Given the description of an element on the screen output the (x, y) to click on. 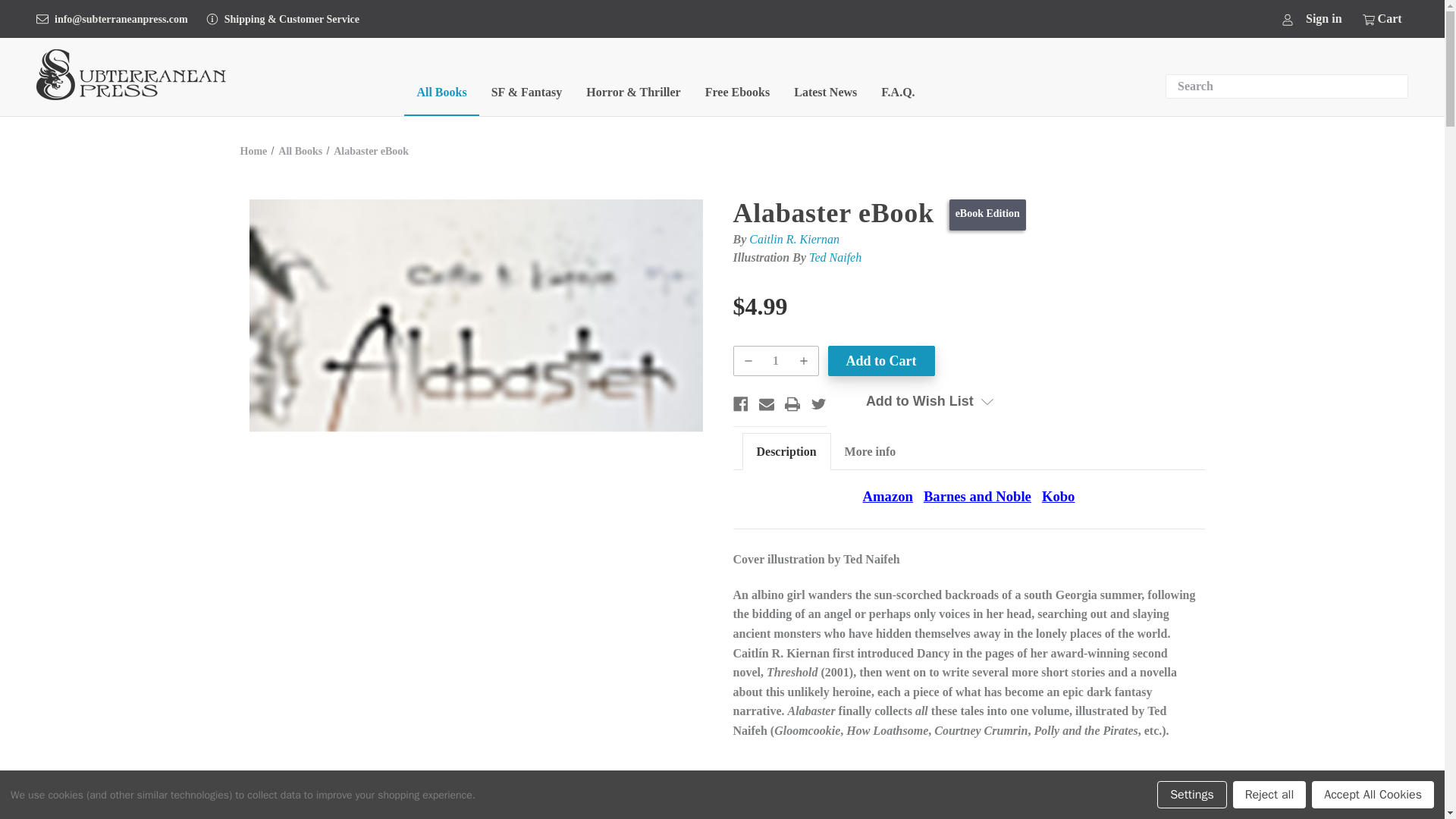
1 (775, 360)
Free Ebooks (737, 95)
Latest News (825, 95)
Add to Cart (881, 360)
F.A.Q. (897, 95)
Home (253, 151)
Cart (1380, 18)
Subterranean Press (130, 74)
All Books (299, 151)
All Books (441, 95)
